Given the description of an element on the screen output the (x, y) to click on. 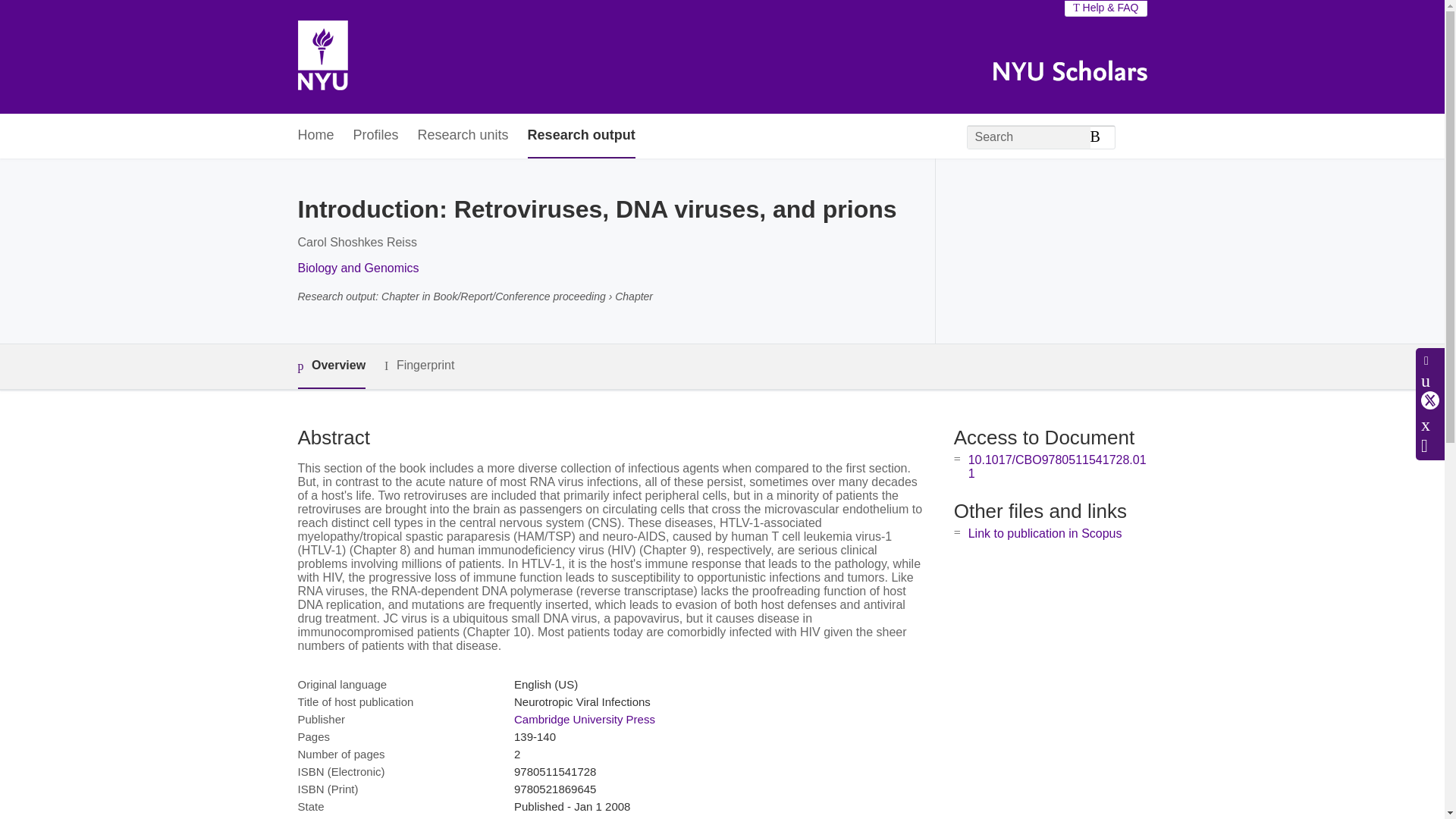
Research output (580, 135)
Overview (331, 366)
Profiles (375, 135)
Fingerprint (419, 365)
Research units (462, 135)
Link to publication in Scopus (1045, 533)
Cambridge University Press (584, 718)
Biology and Genomics (358, 267)
